Given the description of an element on the screen output the (x, y) to click on. 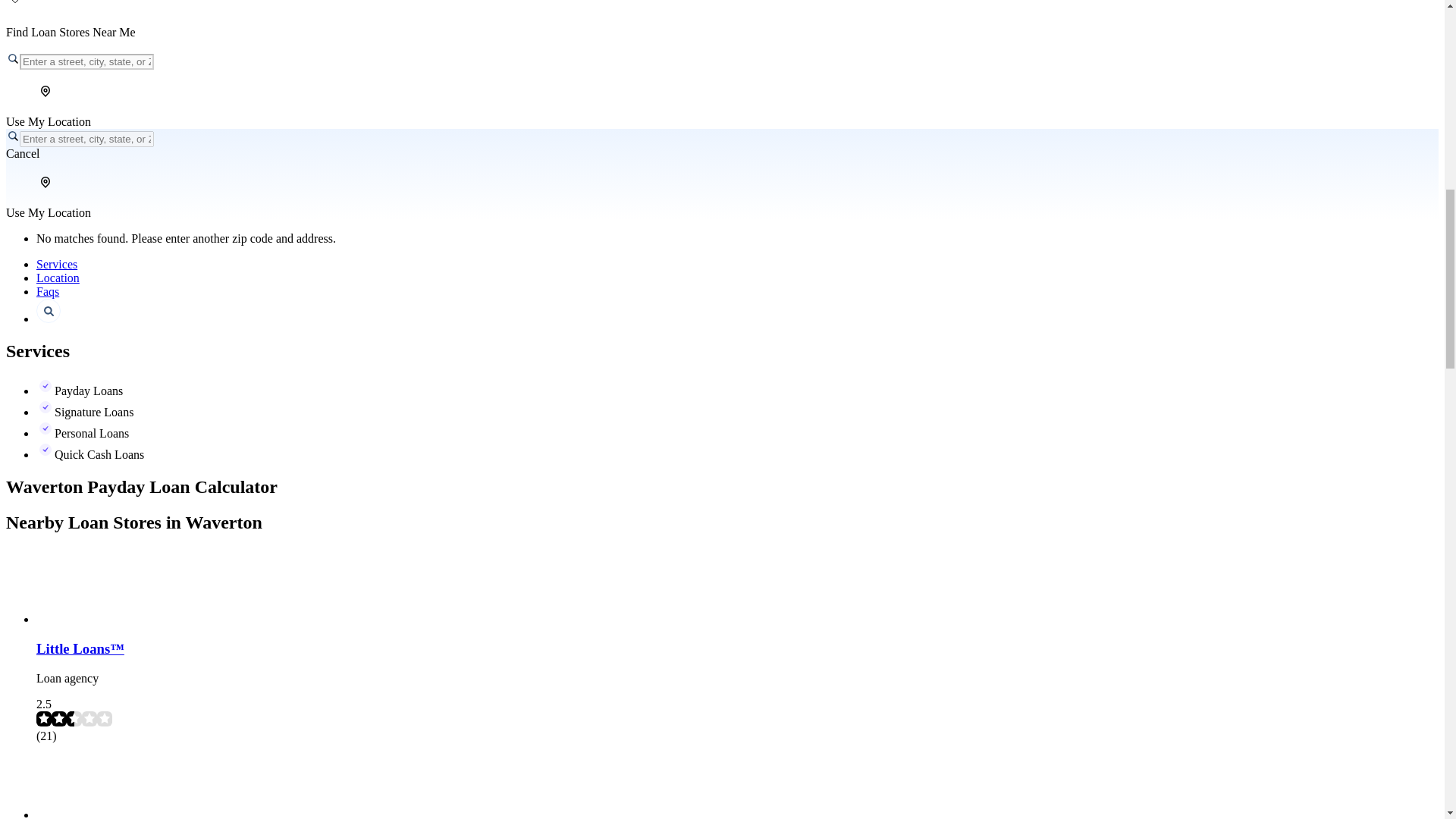
Services (56, 264)
Location (58, 277)
Faqs (47, 291)
